Given the description of an element on the screen output the (x, y) to click on. 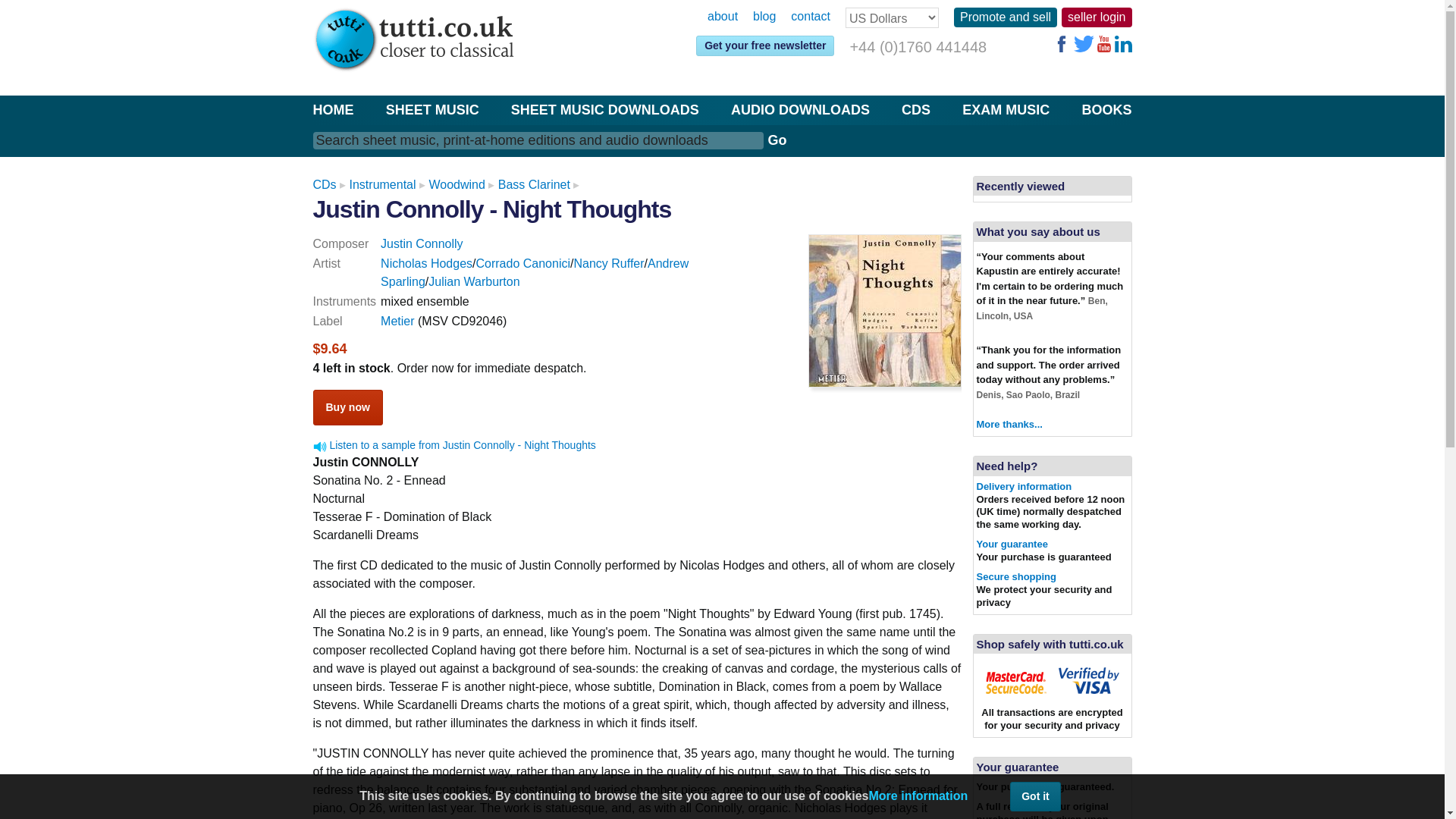
EXAM MUSIC (1005, 109)
Justin Connolly - Night Thoughts (492, 208)
contact (809, 17)
Go (776, 140)
HOME (333, 109)
SHEET MUSIC (432, 109)
seller login (1096, 17)
Nicholas Hodges (425, 263)
Julian Warburton (473, 281)
Metier (396, 320)
